Given the description of an element on the screen output the (x, y) to click on. 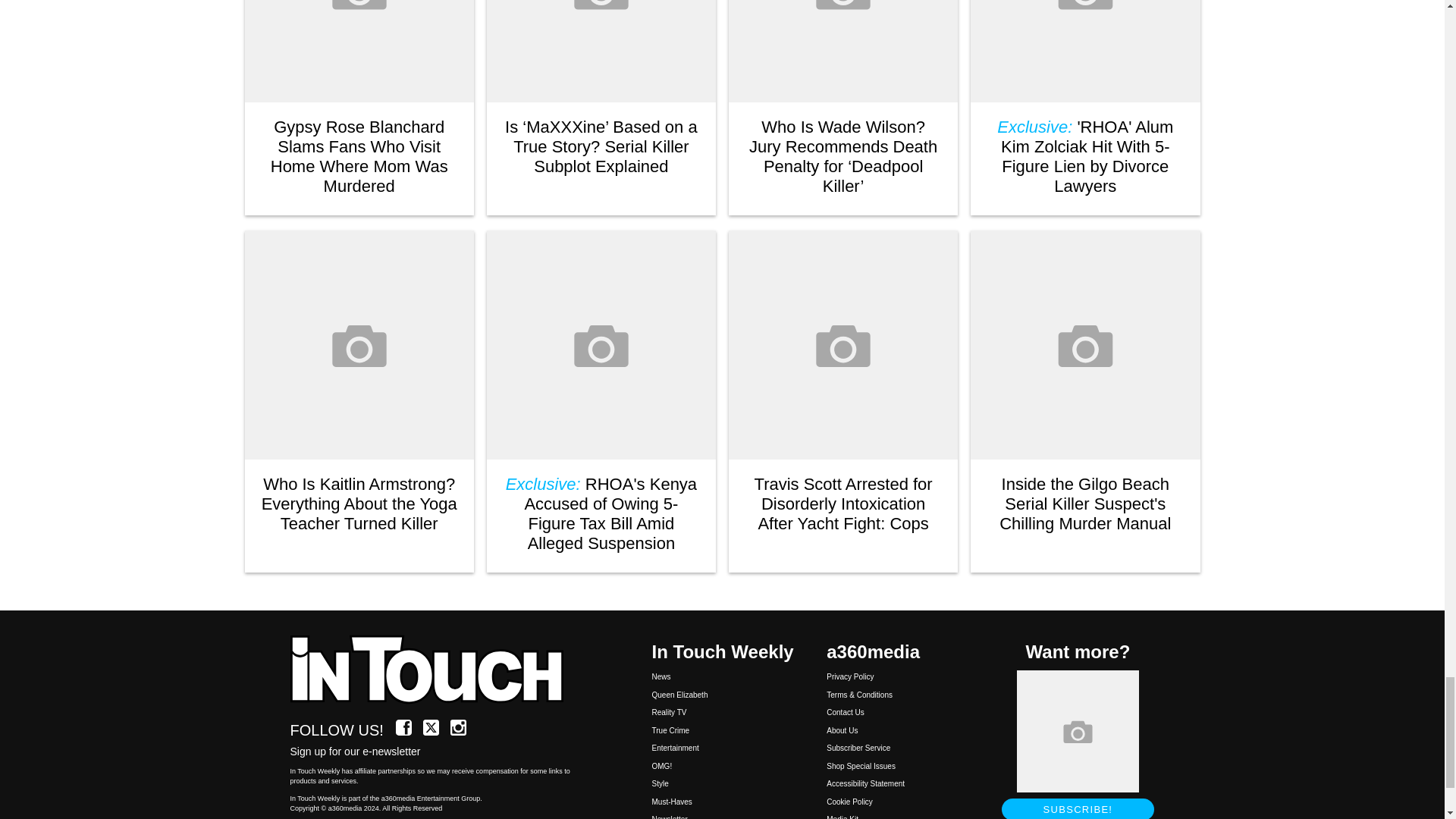
Home (434, 670)
